Given the description of an element on the screen output the (x, y) to click on. 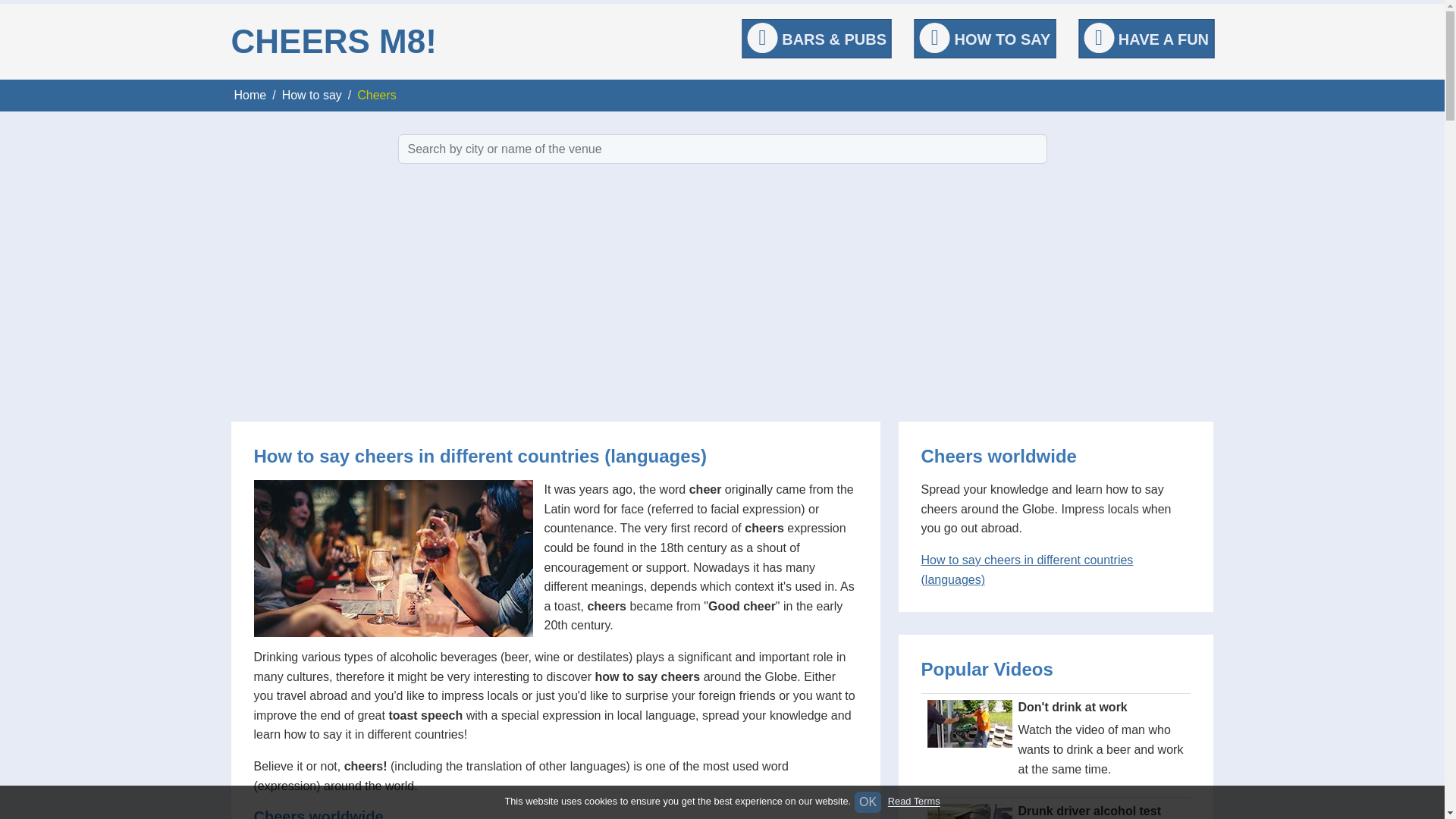
OK (867, 802)
HOW TO SAY (984, 37)
How to say (312, 94)
HAVE A FUN (1145, 37)
Home (249, 94)
Read Terms (914, 801)
